Given the description of an element on the screen output the (x, y) to click on. 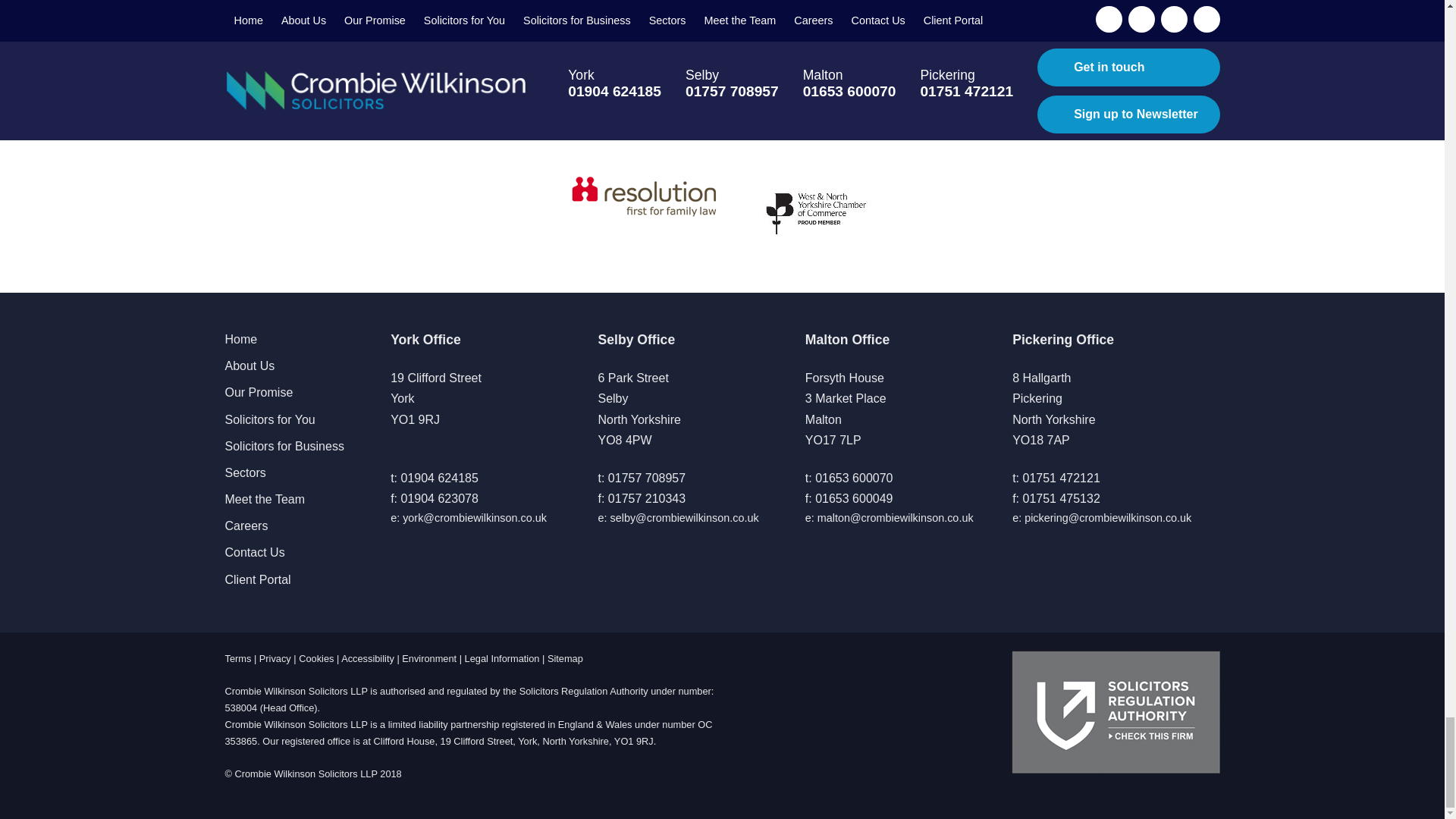
Solicitors Regulation Authority (1115, 711)
